Given the description of an element on the screen output the (x, y) to click on. 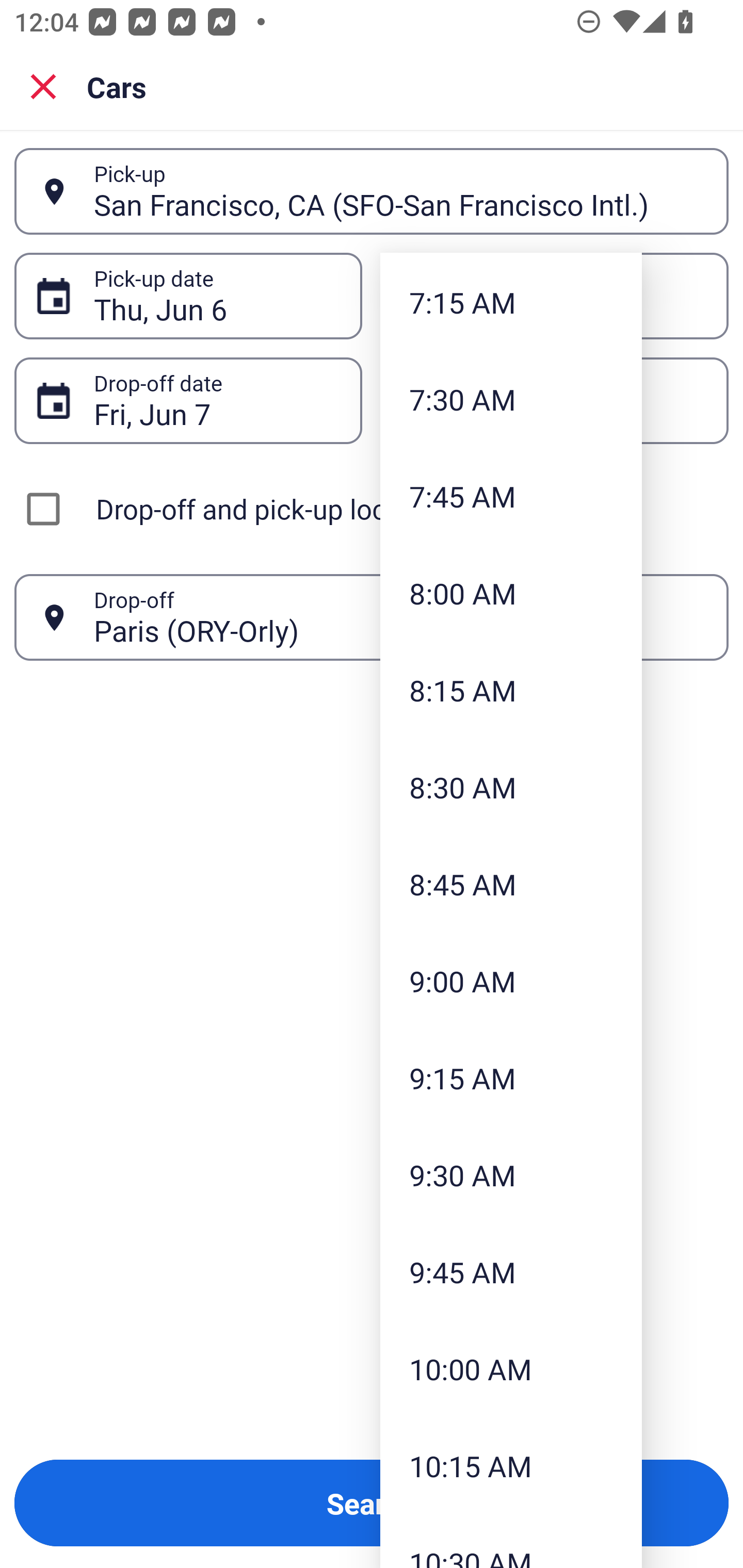
7:15 AM (510, 302)
7:30 AM (510, 399)
7:45 AM (510, 496)
8:00 AM (510, 592)
8:15 AM (510, 689)
8:30 AM (510, 786)
8:45 AM (510, 883)
9:00 AM (510, 981)
9:15 AM (510, 1077)
9:30 AM (510, 1174)
9:45 AM (510, 1271)
10:00 AM (510, 1368)
10:15 AM (510, 1465)
